Given the description of an element on the screen output the (x, y) to click on. 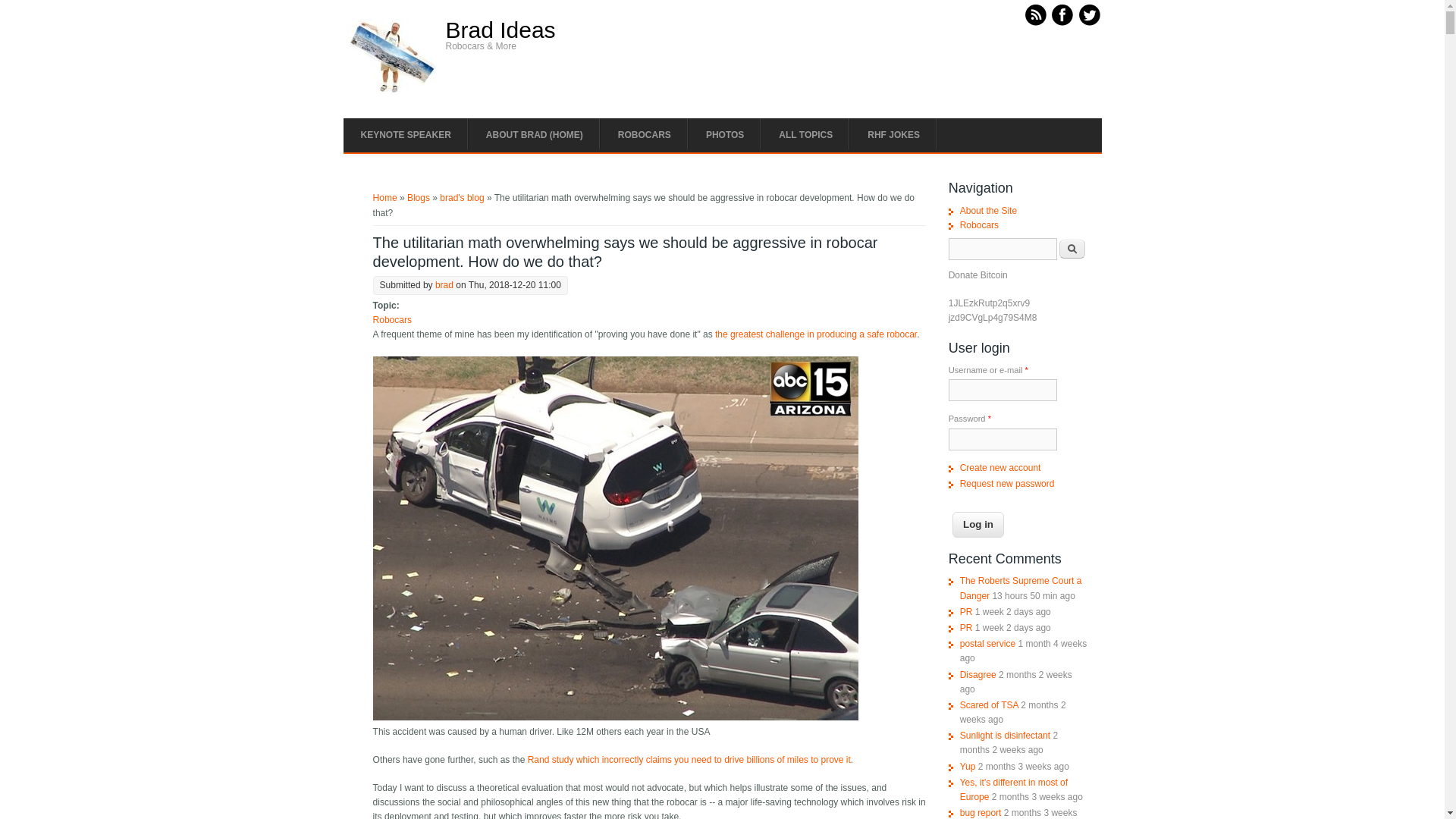
Log in (978, 524)
Robocar blog entries (643, 134)
ALL TOPICS (805, 134)
Non-blog home page for Brad Templeton (533, 134)
Brad Ideas (500, 29)
Search (1071, 248)
All blog topics (805, 134)
ROBOCARS (643, 134)
KEYNOTE SPEAKER (404, 134)
PHOTOS (724, 134)
Home (392, 91)
Book me as a speaker for your event (404, 134)
Home (500, 29)
Photo web site (724, 134)
